Given the description of an element on the screen output the (x, y) to click on. 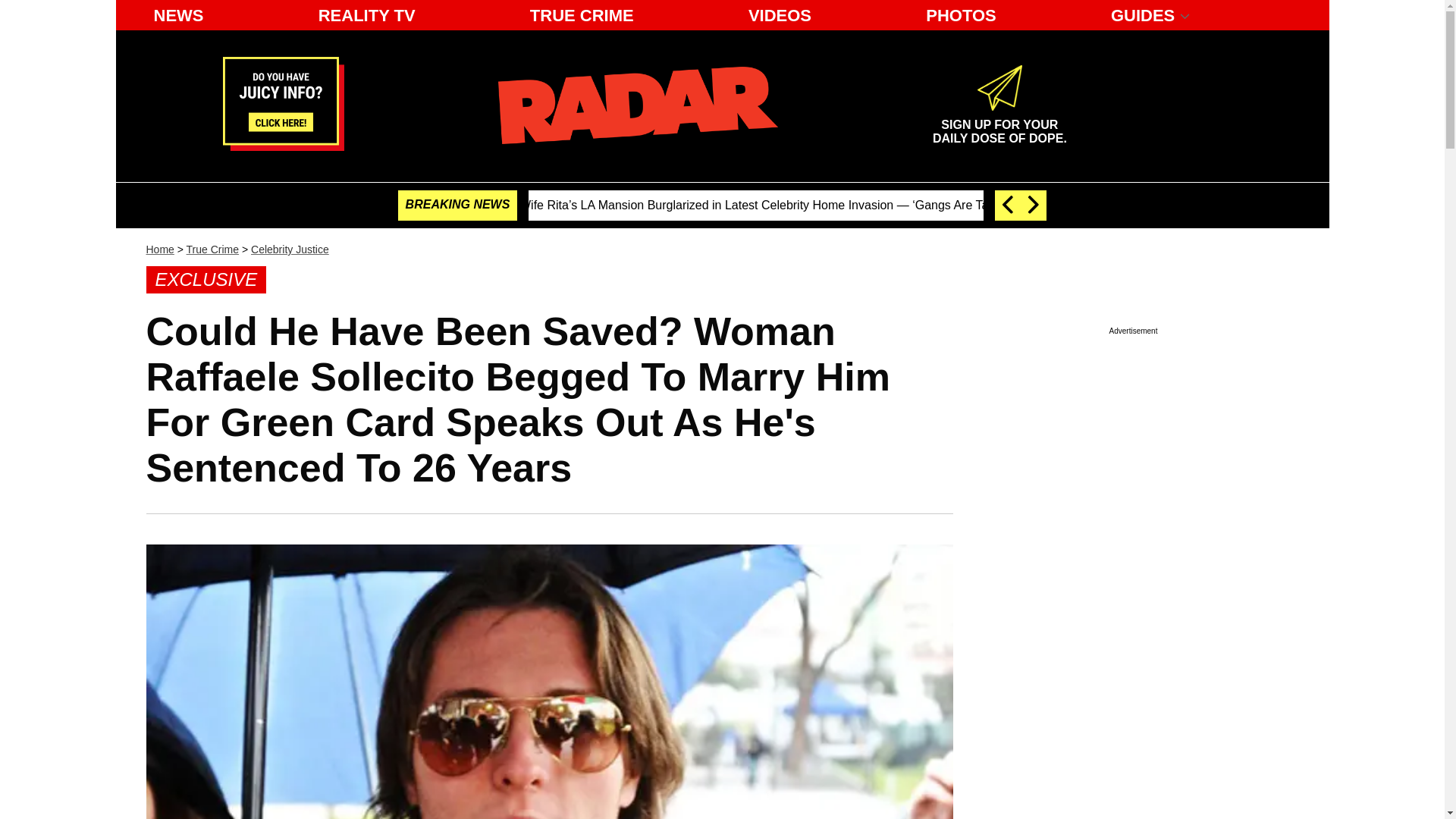
Radar Online (637, 105)
NEWS (178, 15)
REALITY TV (367, 15)
VIDEOS (779, 15)
Sign up for your daily dose of dope. (999, 124)
Home (159, 249)
Email us your tip (282, 146)
TRUE CRIME (582, 15)
Celebrity Justice (999, 124)
True Crime (289, 249)
PHOTOS (213, 249)
